Given the description of an element on the screen output the (x, y) to click on. 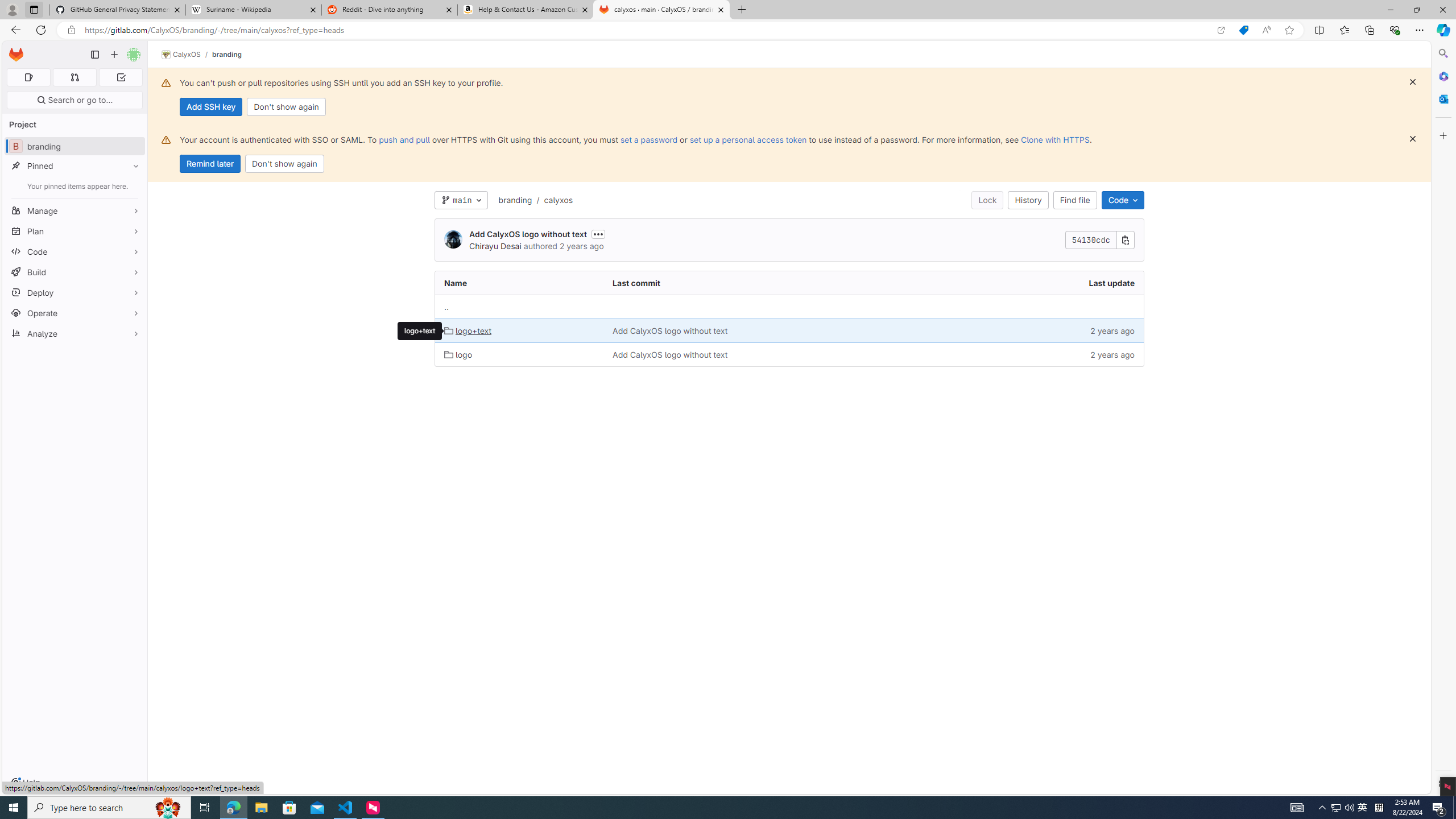
B branding (74, 145)
logo (458, 354)
Name (519, 282)
Help (25, 782)
Last update (1045, 282)
Go to parent (789, 306)
Chirayu Desai's avatar (453, 239)
Skip to main content (13, 49)
Primary navigation sidebar (94, 54)
